Given the description of an element on the screen output the (x, y) to click on. 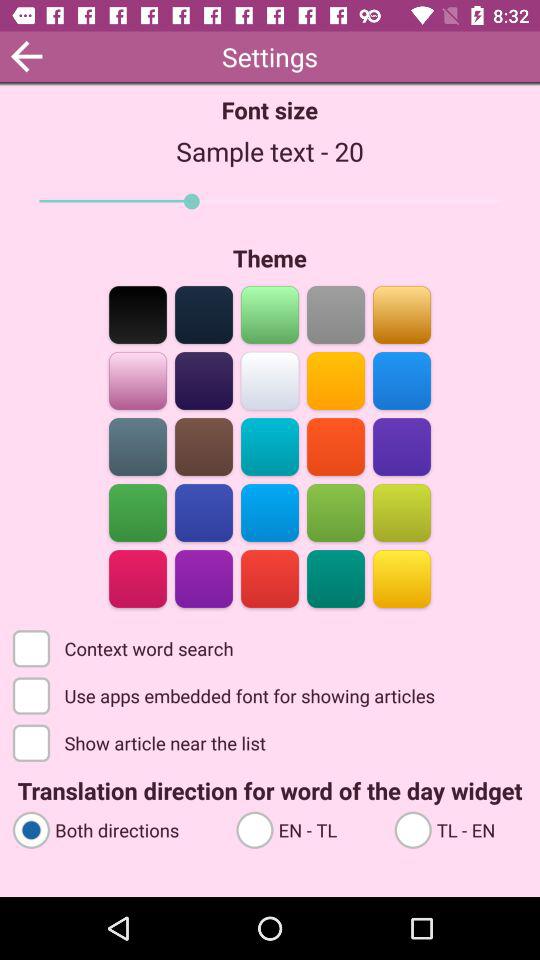
theme option (137, 511)
